Given the description of an element on the screen output the (x, y) to click on. 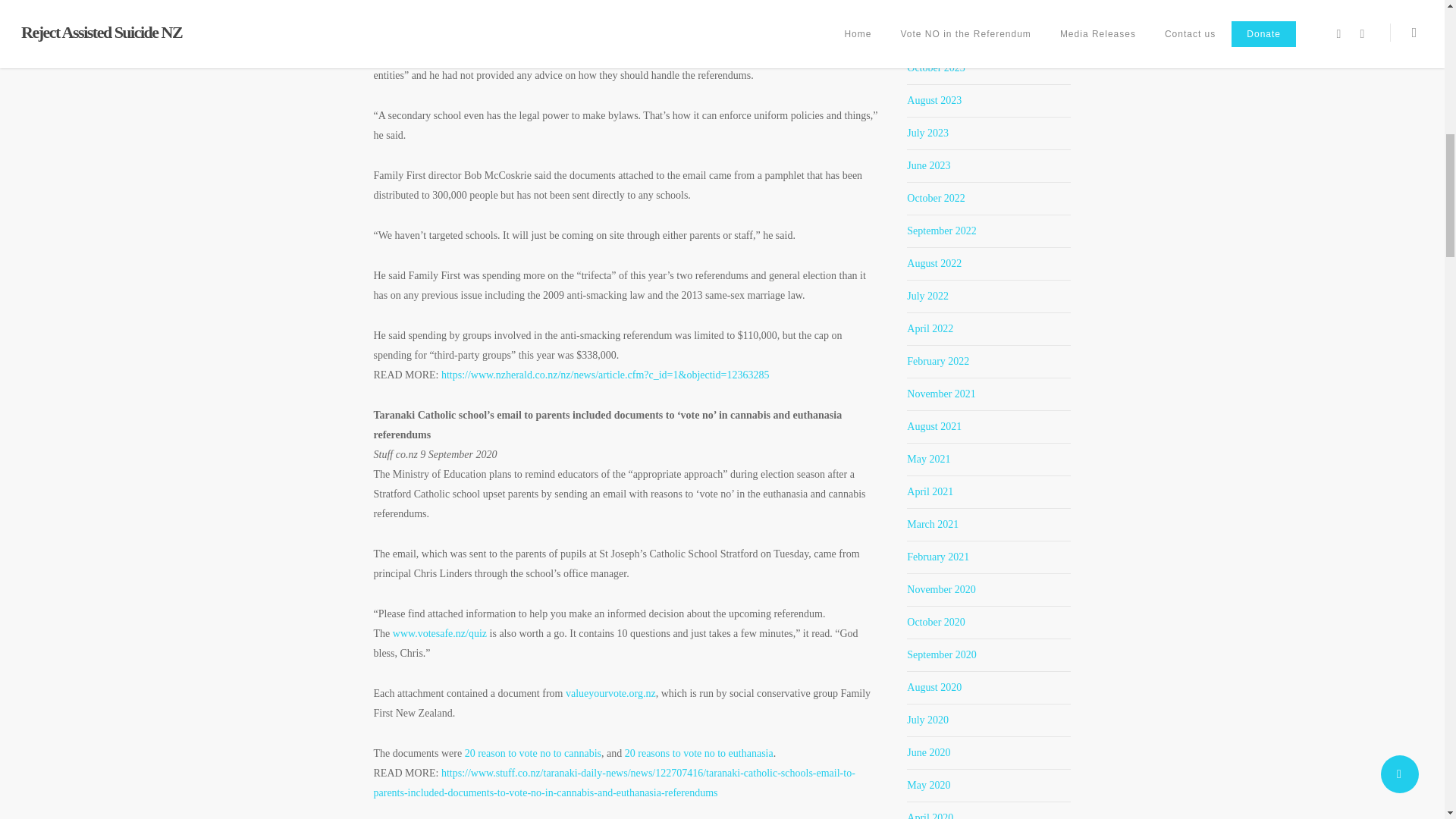
valueyourvote.org.nz (611, 693)
20 reasons to vote no to euthanasia (698, 753)
May 2024 (928, 34)
October 2023 (936, 67)
20 reason to vote no to cannabis (532, 753)
